Given the description of an element on the screen output the (x, y) to click on. 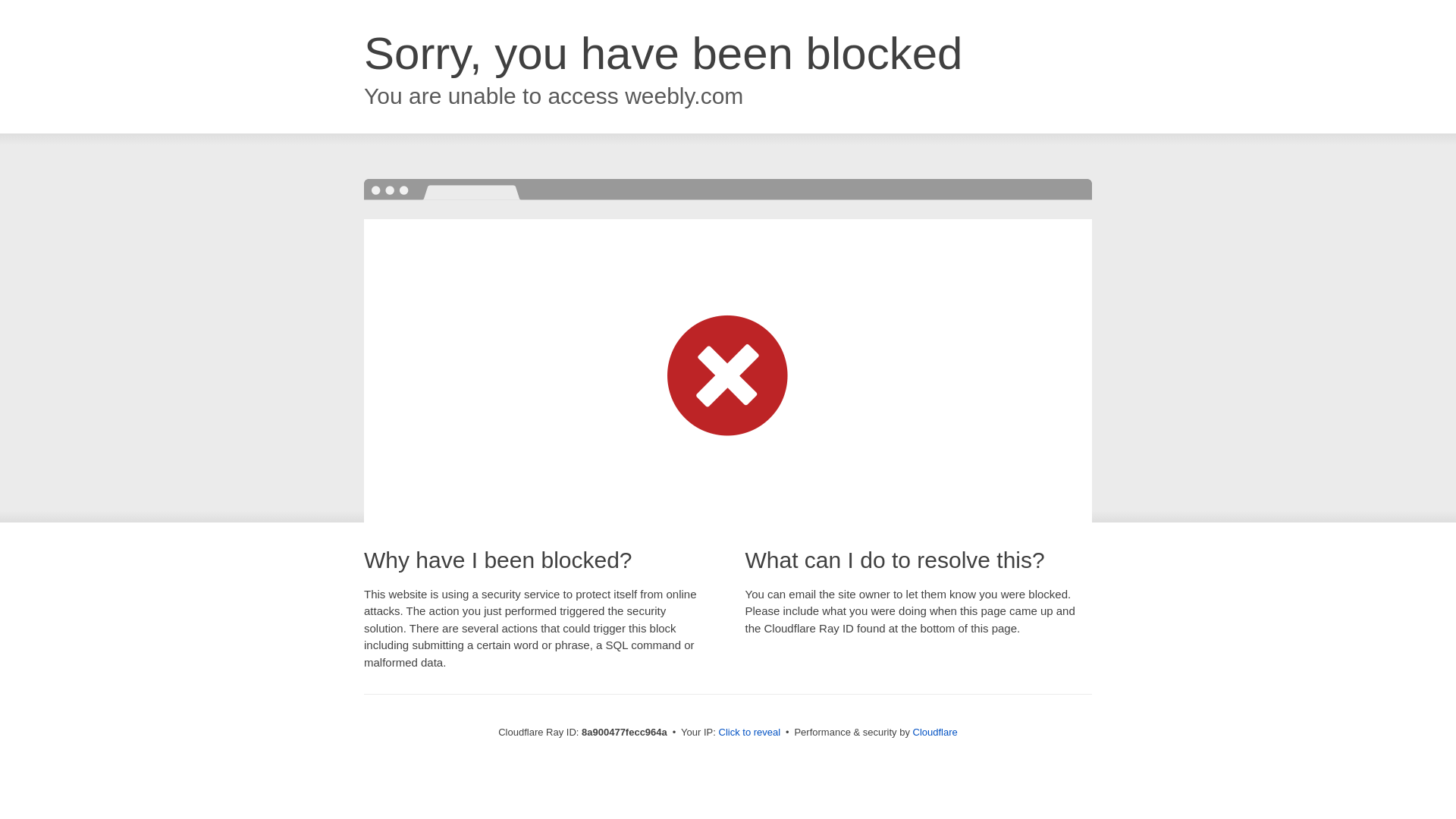
Click to reveal (749, 732)
Cloudflare (935, 731)
